Given the description of an element on the screen output the (x, y) to click on. 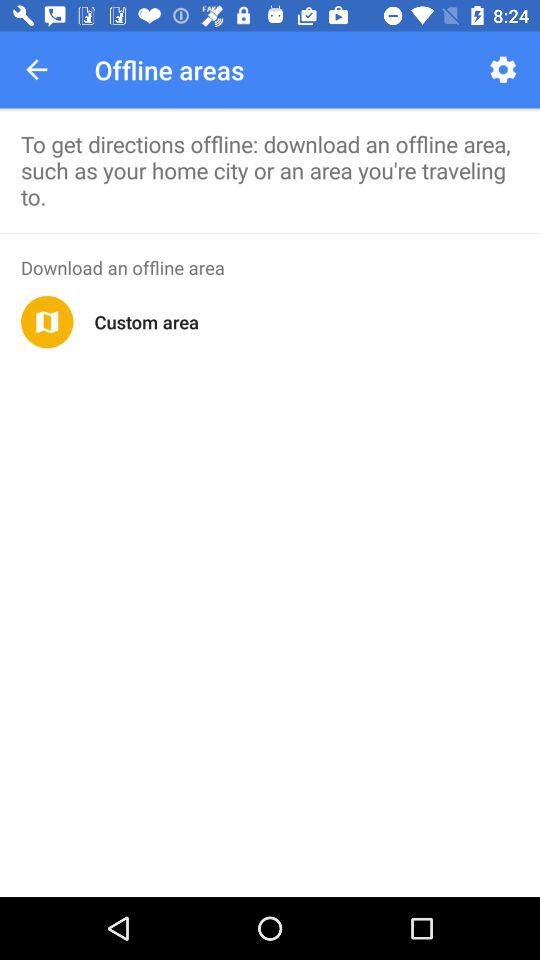
turn off the icon to the left of the custom area (47, 321)
